Given the description of an element on the screen output the (x, y) to click on. 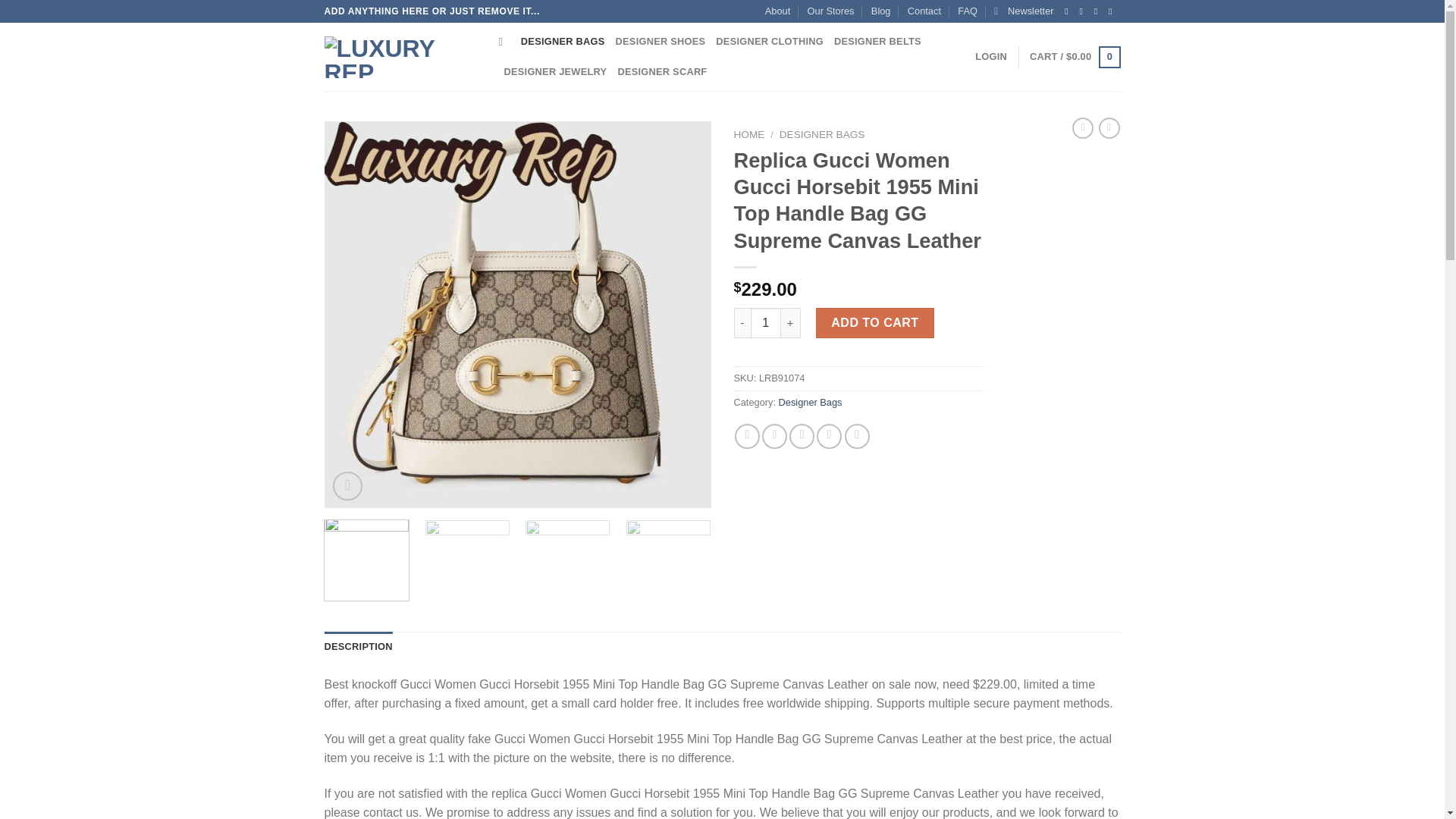
Cart (1074, 57)
DESIGNER SCARF (661, 71)
Luxury Rep - Explore Affordable Replica Designer Products (400, 56)
Our Stores (831, 11)
Newsletter (1023, 11)
DESIGNER BELTS (877, 41)
Sign up for Newsletter (1023, 11)
DESIGNER JEWELRY (555, 71)
Contact (923, 11)
